Given the description of an element on the screen output the (x, y) to click on. 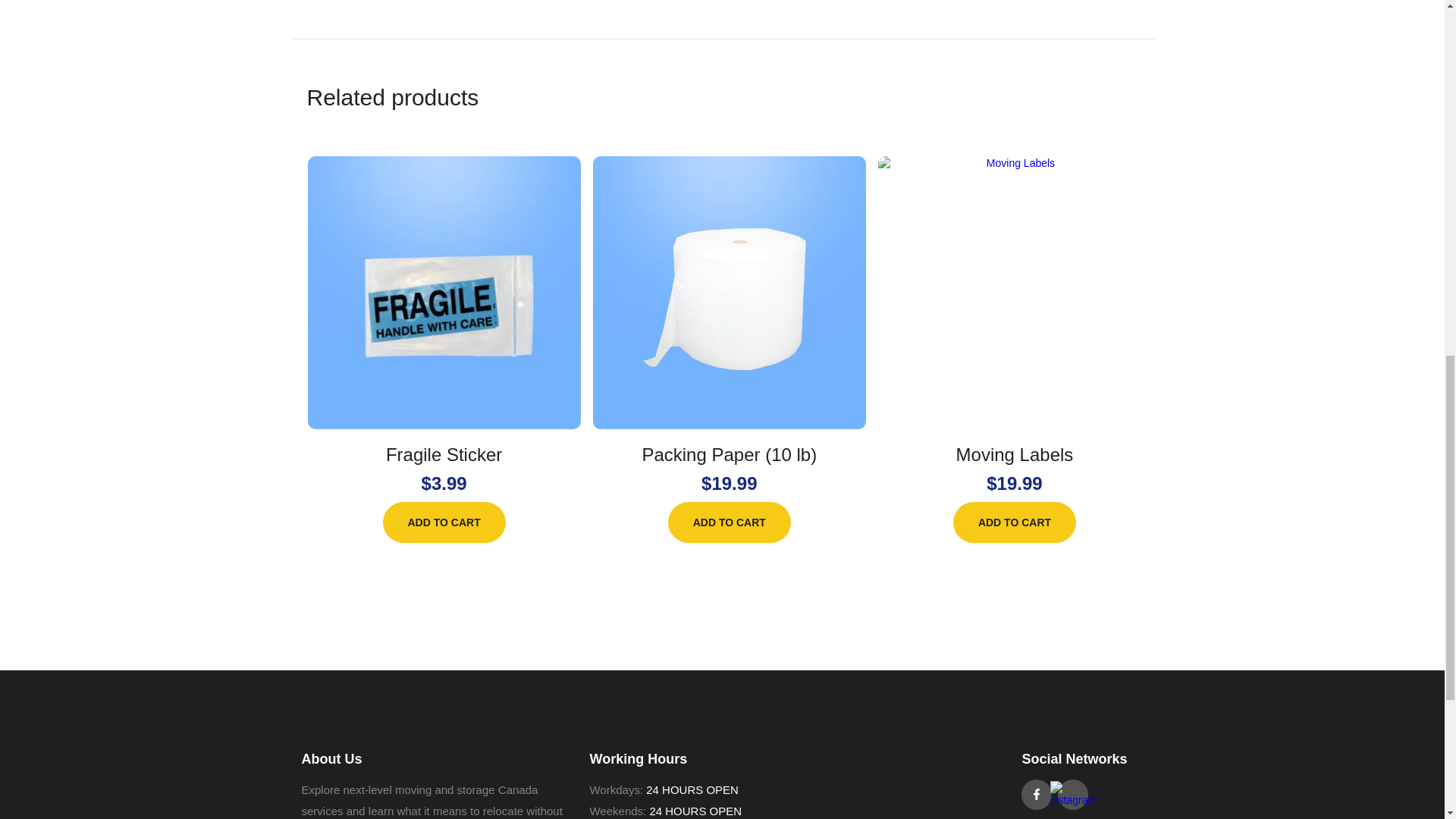
ADD TO CART (729, 522)
ADD TO CART (443, 522)
ADD TO CART (1014, 522)
